Given the description of an element on the screen output the (x, y) to click on. 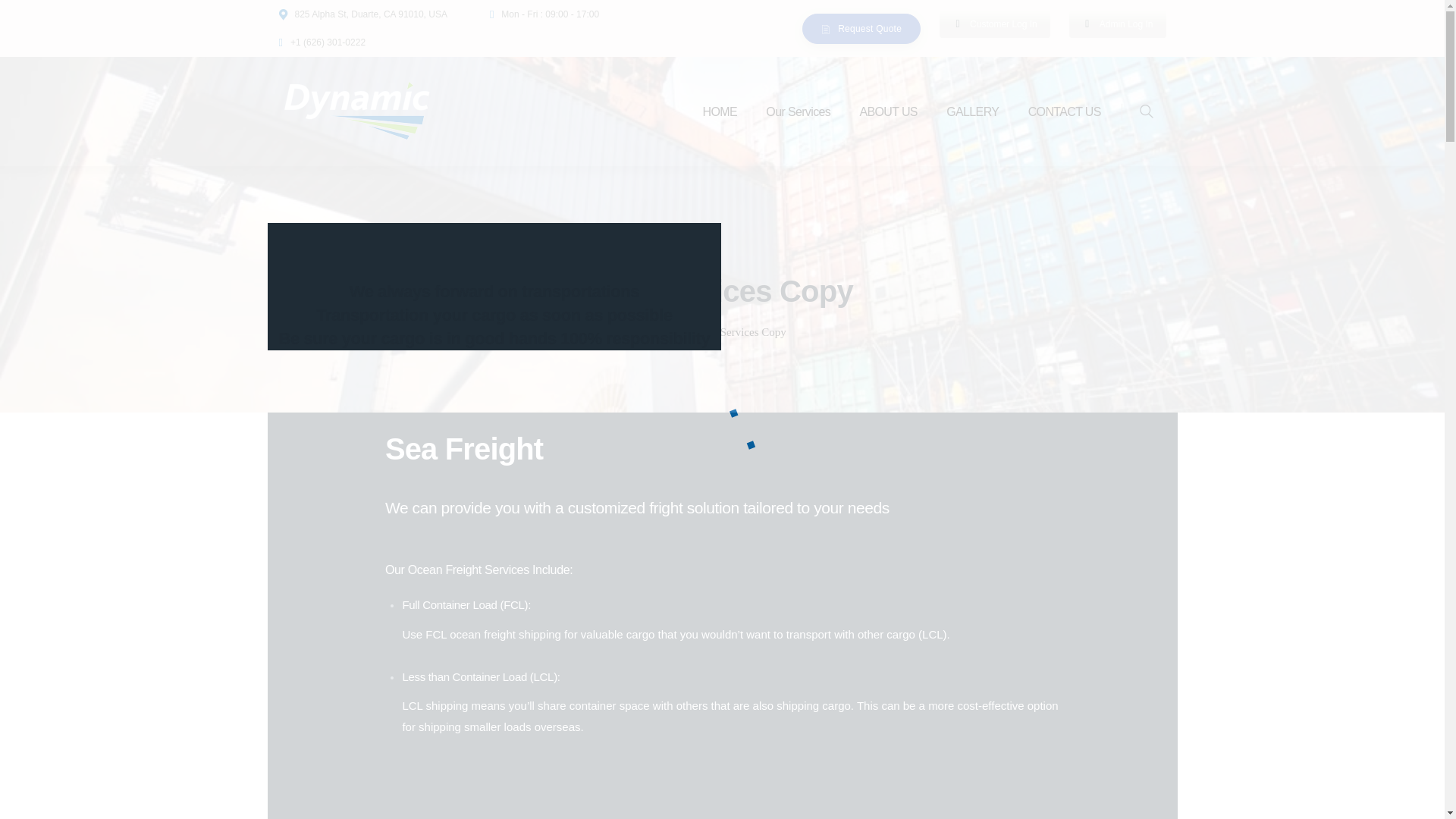
Home (671, 332)
Customer Log In (994, 23)
CONTACT US (1064, 112)
Request Quote (861, 29)
HOME (719, 112)
GALLERY (972, 112)
ABOUT US (887, 112)
Admin Log In (1117, 23)
Our Services (797, 112)
